Given the description of an element on the screen output the (x, y) to click on. 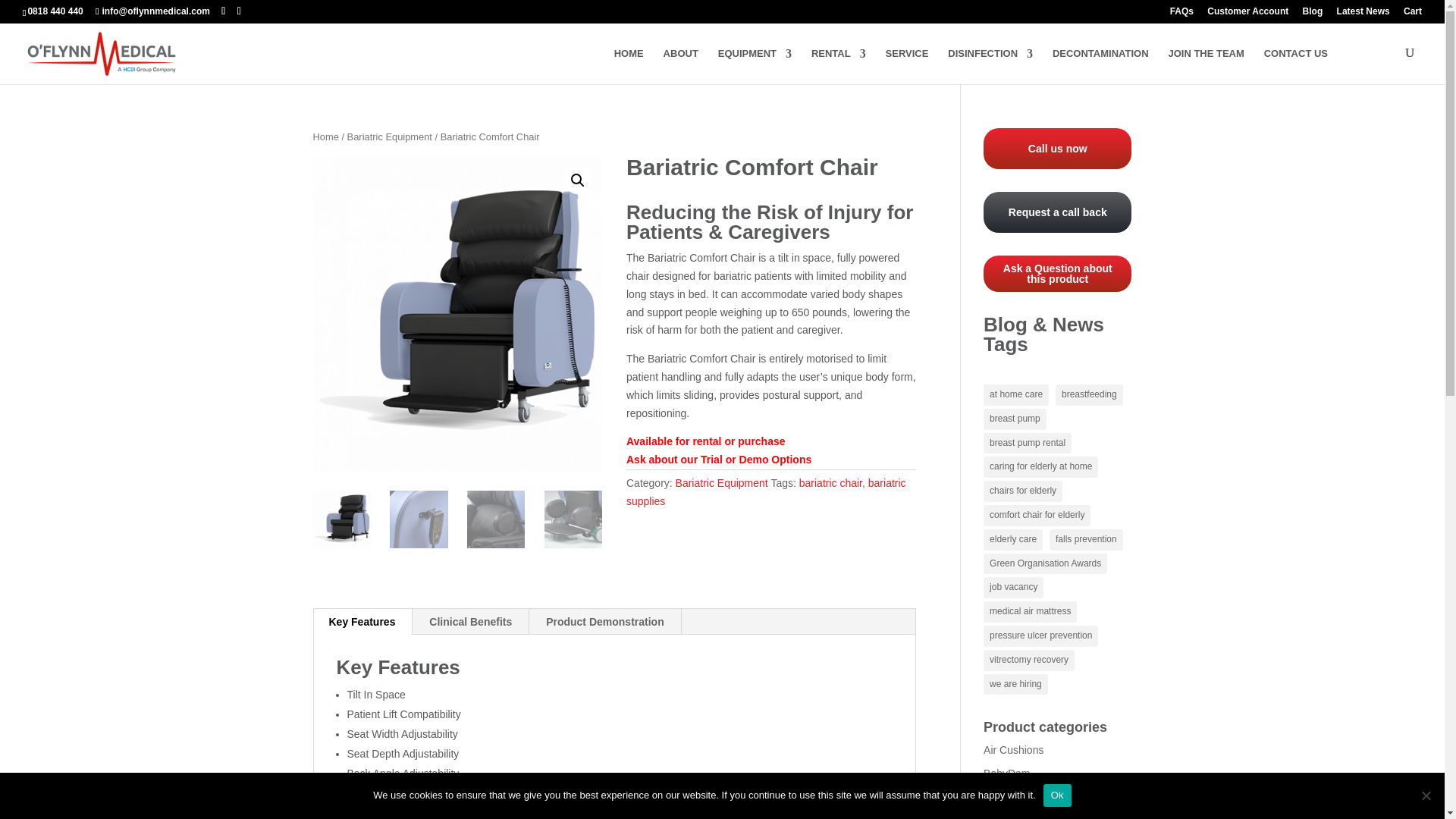
FAQs (1181, 14)
bariatric-comfort-chair (457, 313)
ABOUT (680, 66)
RENTAL (838, 66)
EQUIPMENT (754, 66)
Blog (1313, 14)
Customer Account (1247, 14)
Latest News (1363, 14)
Cart (1412, 14)
No (1425, 795)
